Given the description of an element on the screen output the (x, y) to click on. 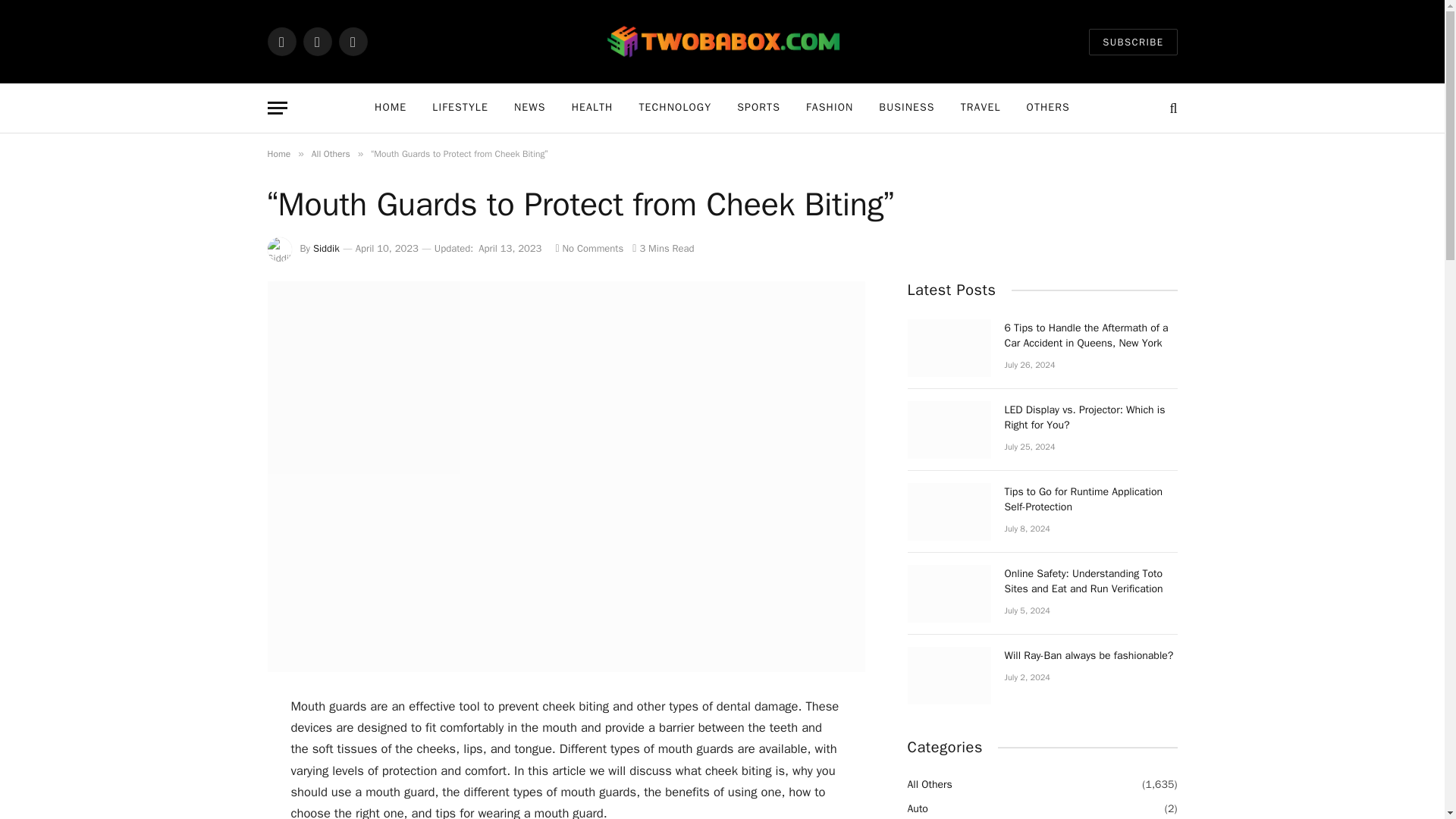
NEWS (529, 107)
No Comments (588, 247)
Posts by Siddik (326, 247)
Twobabox.com (721, 41)
Facebook (280, 41)
Instagram (351, 41)
SPORTS (758, 107)
TECHNOLOGY (674, 107)
FASHION (829, 107)
BUSINESS (906, 107)
All Others (330, 153)
HOME (390, 107)
Twitter (316, 41)
TRAVEL (980, 107)
Siddik (326, 247)
